Given the description of an element on the screen output the (x, y) to click on. 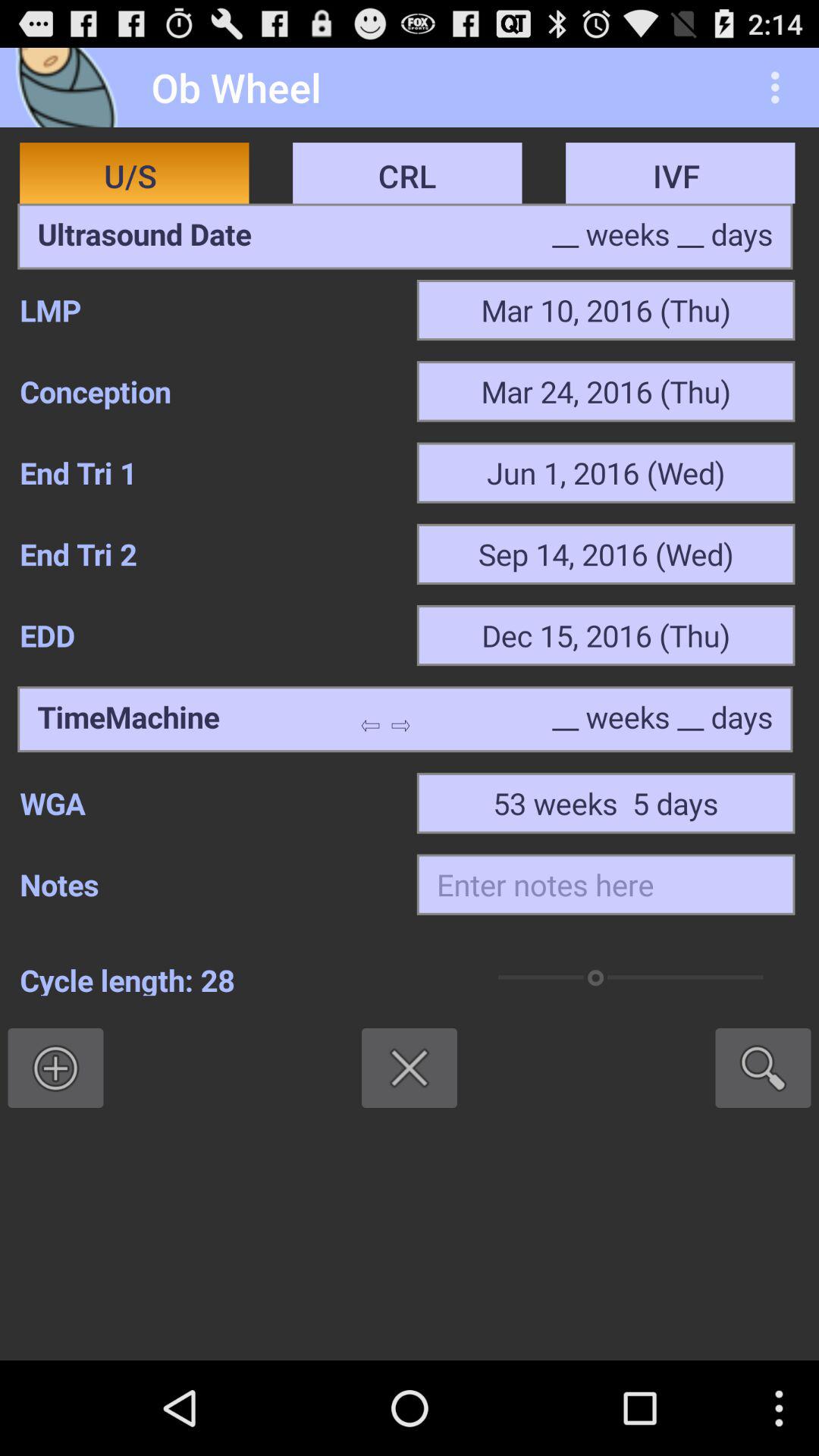
tap the item below the wga (605, 884)
